Given the description of an element on the screen output the (x, y) to click on. 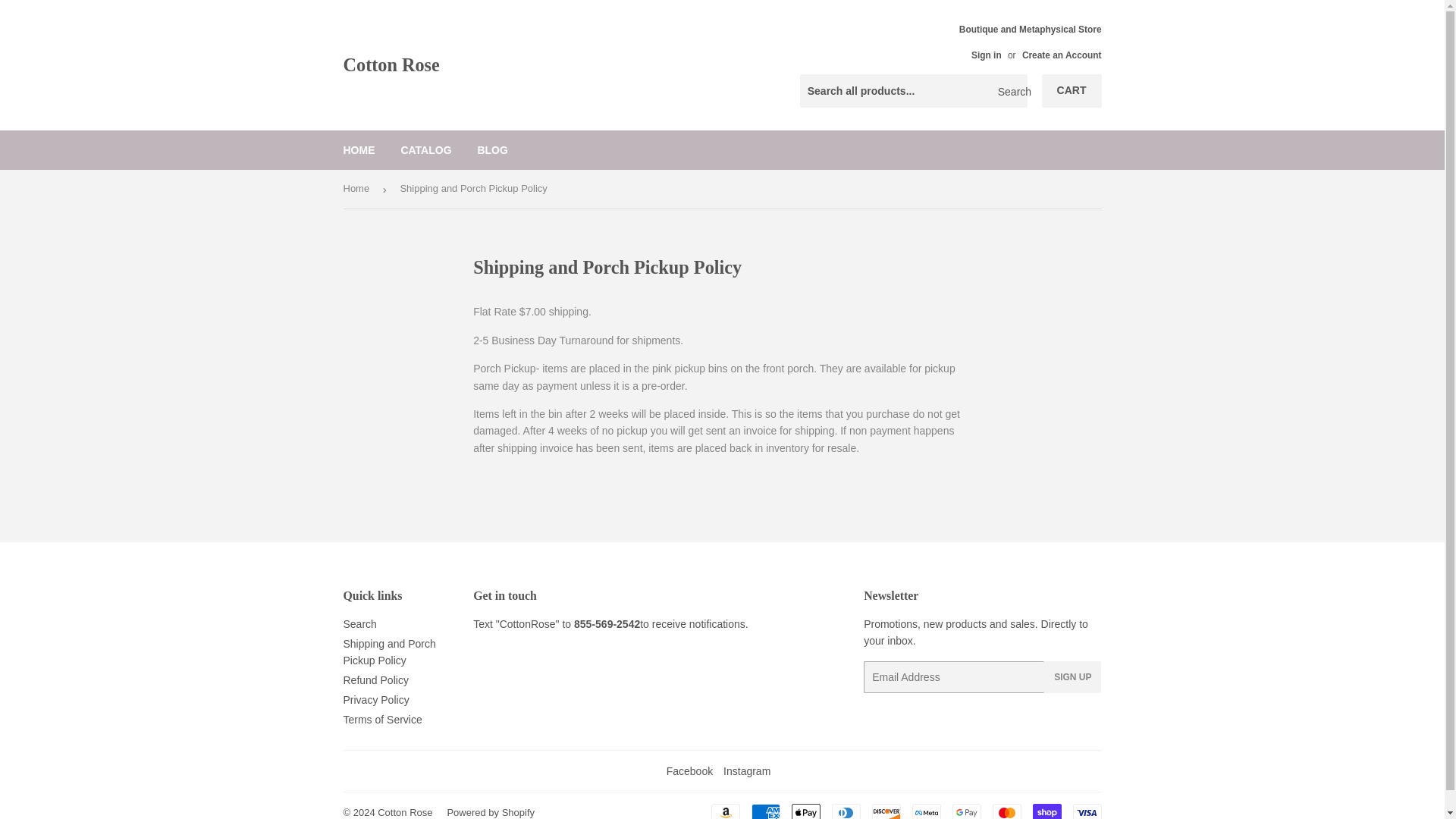
Mastercard (1005, 811)
Diners Club (845, 811)
BLOG (491, 149)
Cotton Rose (532, 64)
Instagram (746, 770)
CATALOG (425, 149)
Refund Policy (374, 680)
CART (1072, 90)
Discover (886, 811)
Shop Pay (1046, 811)
HOME (359, 149)
Google Pay (966, 811)
Amazon (725, 811)
Create an Account (1062, 54)
Meta Pay (925, 811)
